Given the description of an element on the screen output the (x, y) to click on. 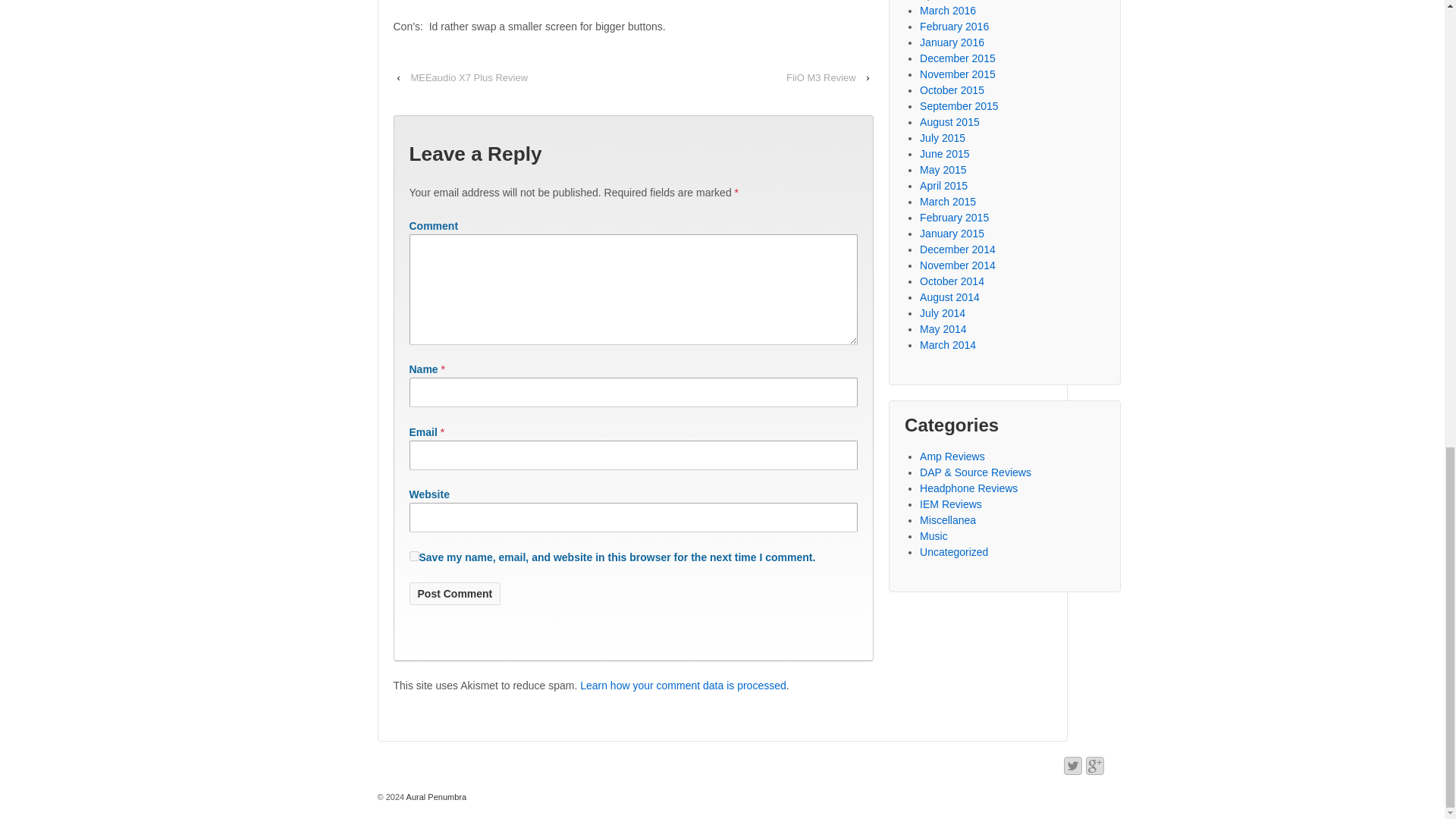
Aural Penumbra (434, 796)
MEEaudio X7 Plus Review (469, 77)
Learn how your comment data is processed (682, 685)
Post Comment (454, 593)
yes (414, 556)
FiiO M3 Review (820, 77)
Post Comment (454, 593)
